Given the description of an element on the screen output the (x, y) to click on. 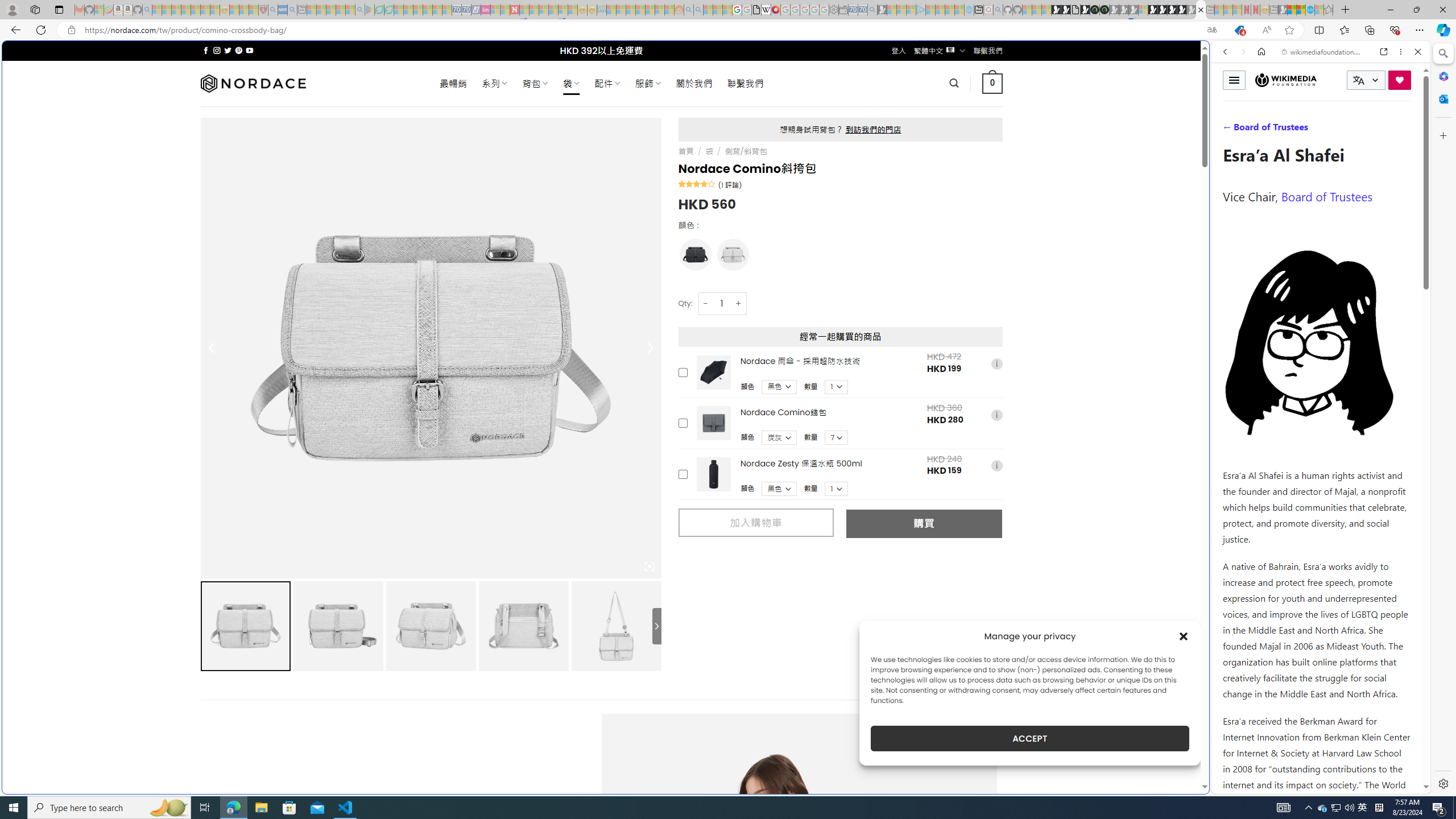
Board of Trustees (1326, 195)
This site has coupons! Shopping in Microsoft Edge, 4 (1239, 29)
